Given the description of an element on the screen output the (x, y) to click on. 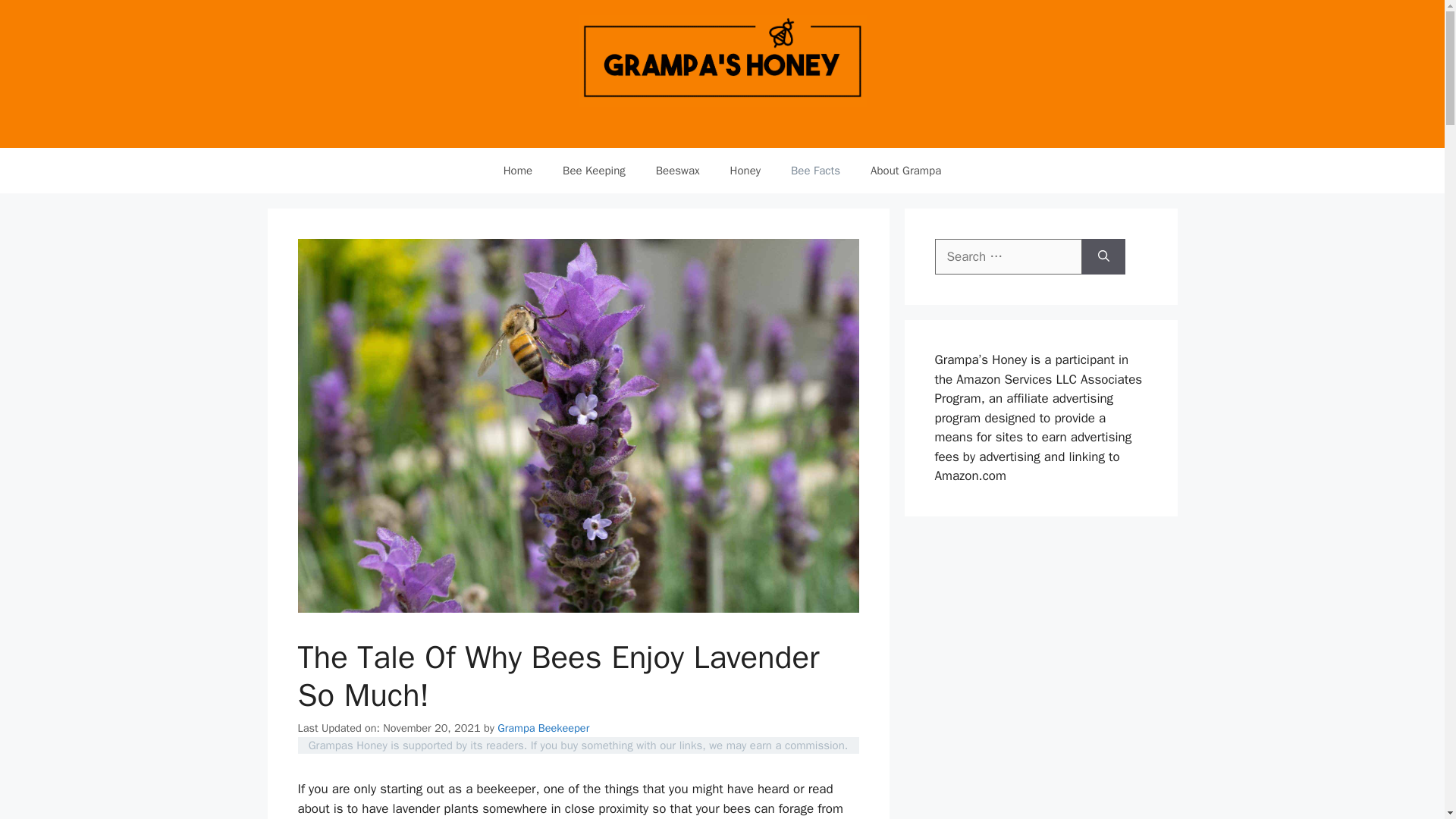
View all posts by Grampa Beekeeper (543, 727)
Beeswax (677, 170)
Search for: (1007, 257)
Home (517, 170)
Grampa Beekeeper (543, 727)
Bee Keeping (593, 170)
Honey (745, 170)
Bee Facts (816, 170)
About Grampa (906, 170)
